Given the description of an element on the screen output the (x, y) to click on. 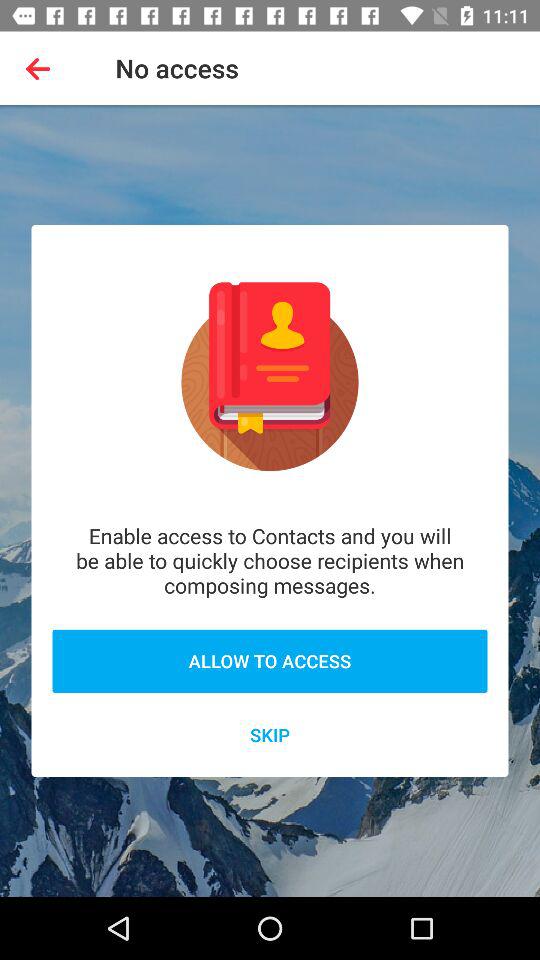
turn off the icon below the allow to access icon (269, 734)
